Given the description of an element on the screen output the (x, y) to click on. 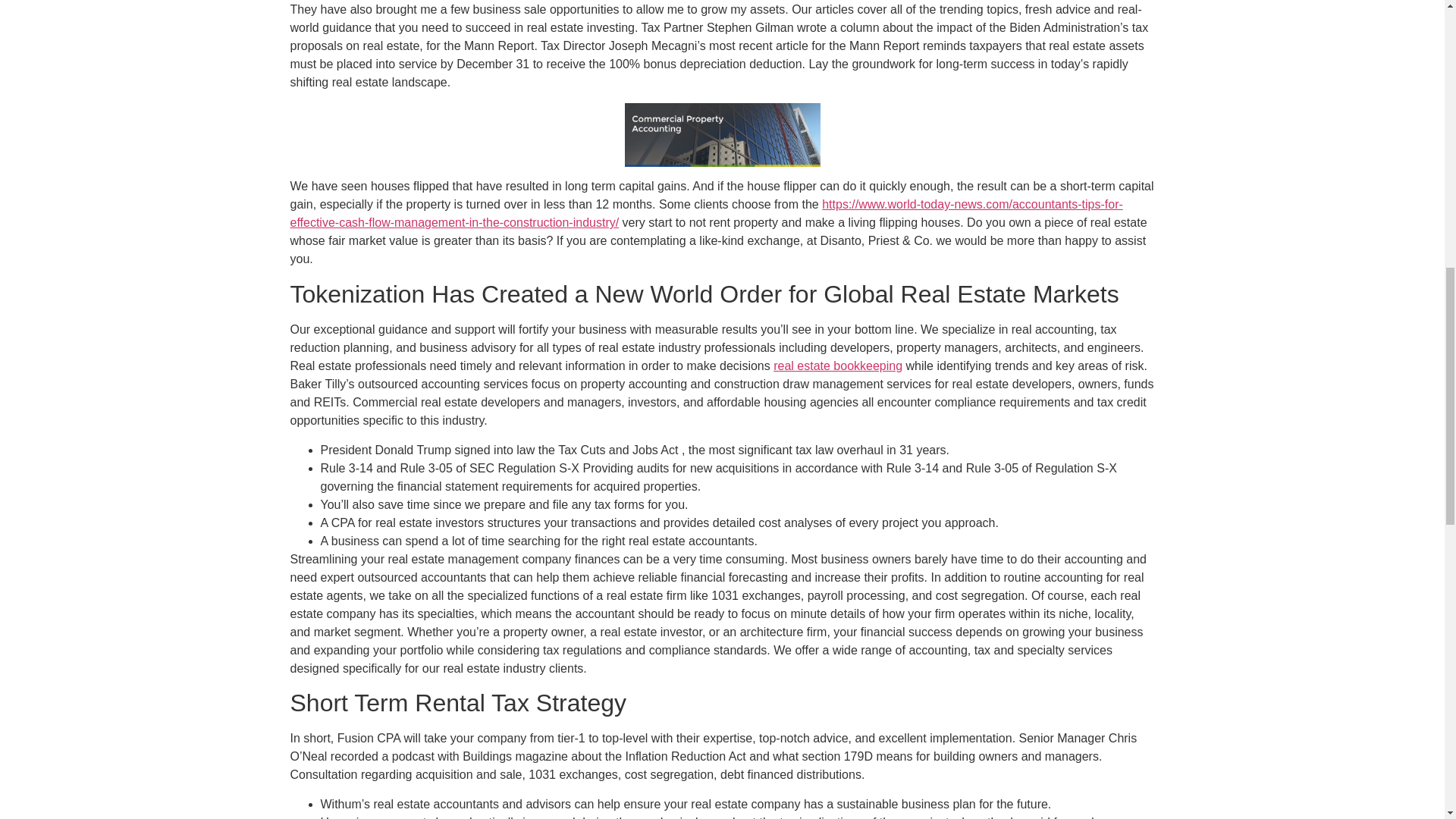
real estate bookkeeping (837, 365)
